Given the description of an element on the screen output the (x, y) to click on. 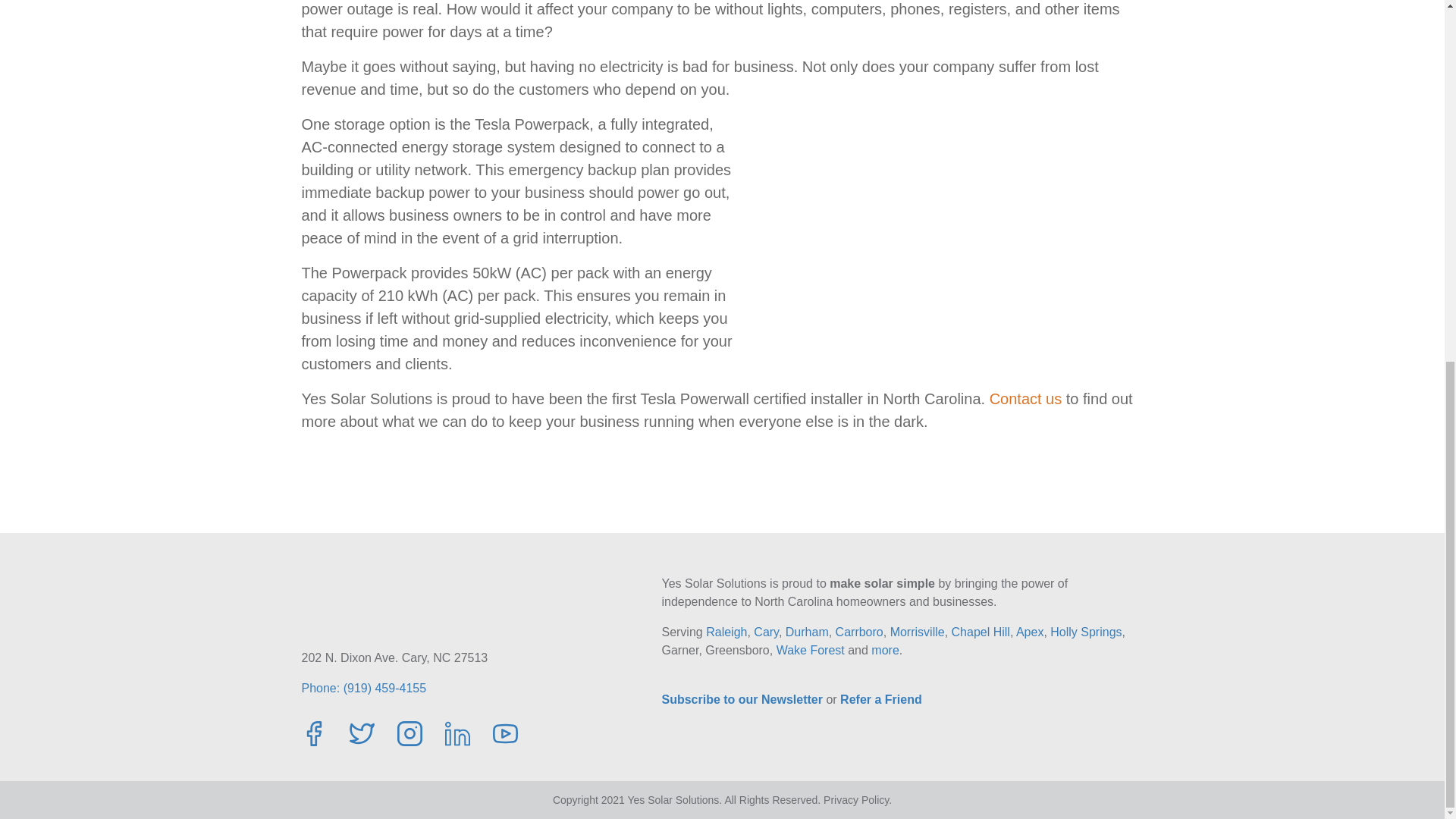
Contact us (1026, 398)
